Given the description of an element on the screen output the (x, y) to click on. 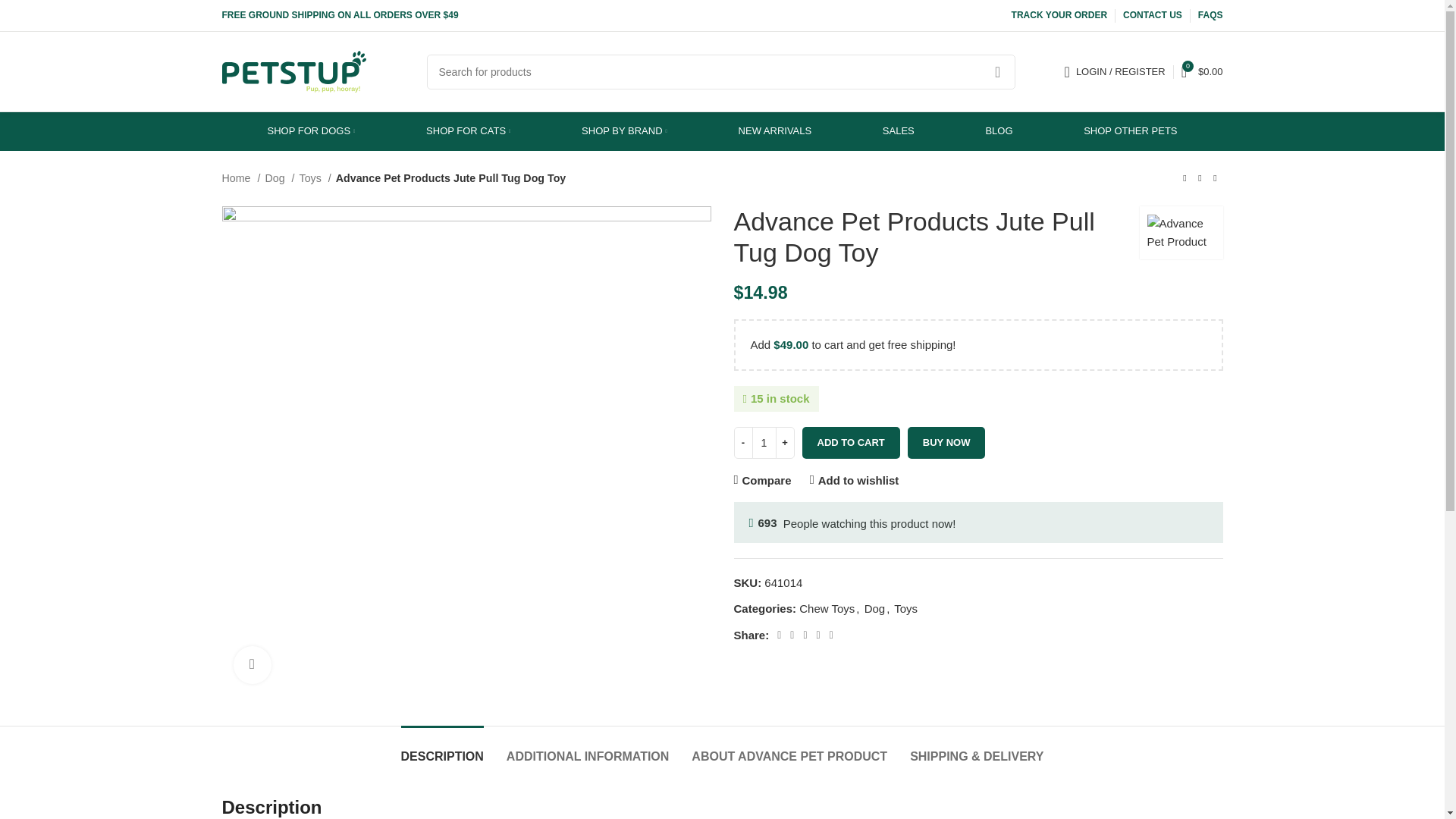
TRACK YOUR ORDER (1058, 14)
Search for products (720, 71)
Shopping cart (1201, 71)
FAQS (1210, 14)
My account (1115, 71)
SHOP FOR DOGS (310, 131)
CONTACT US (1152, 14)
SEARCH (996, 71)
